Given the description of an element on the screen output the (x, y) to click on. 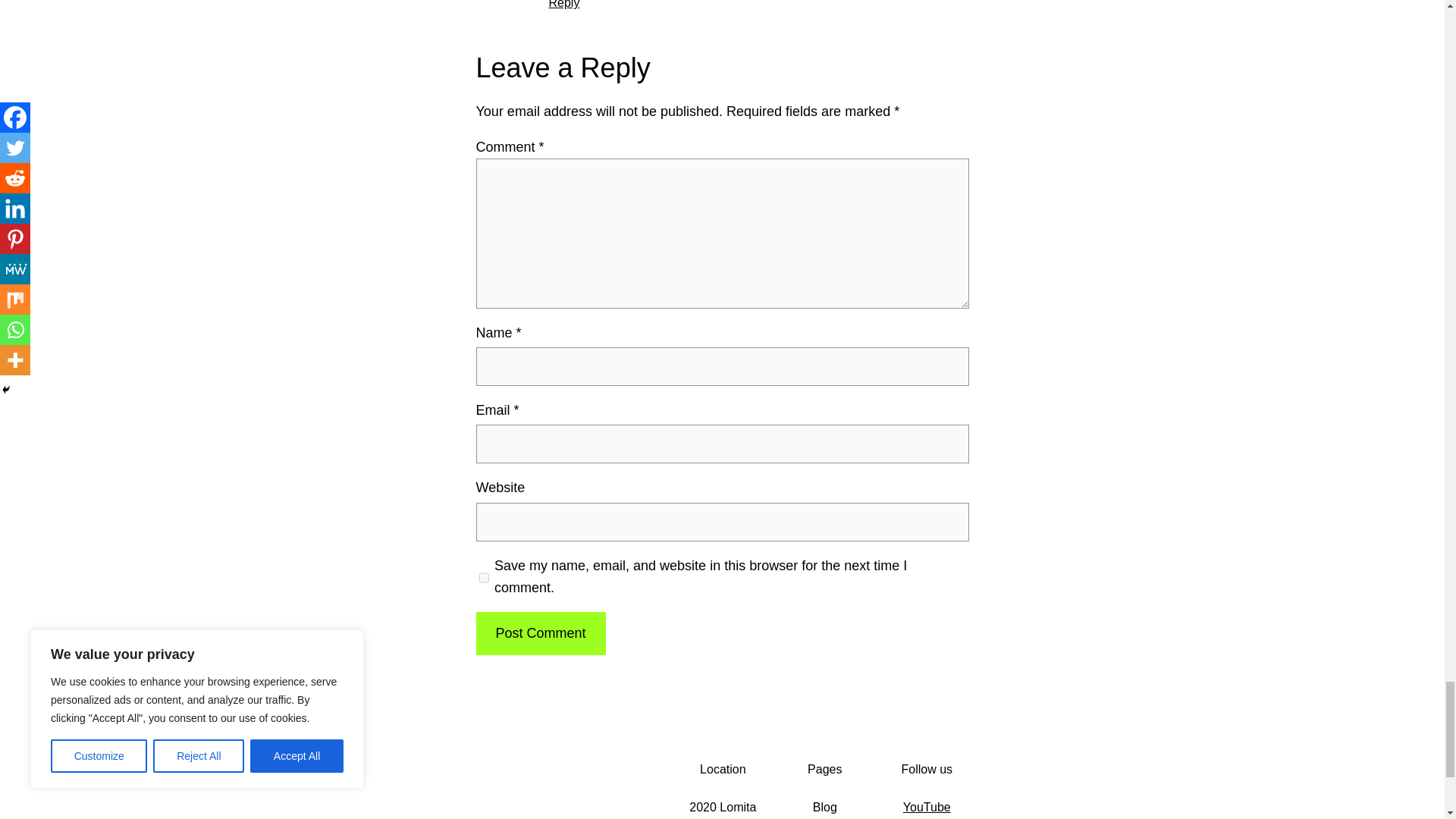
Post Comment (540, 633)
